Given the description of an element on the screen output the (x, y) to click on. 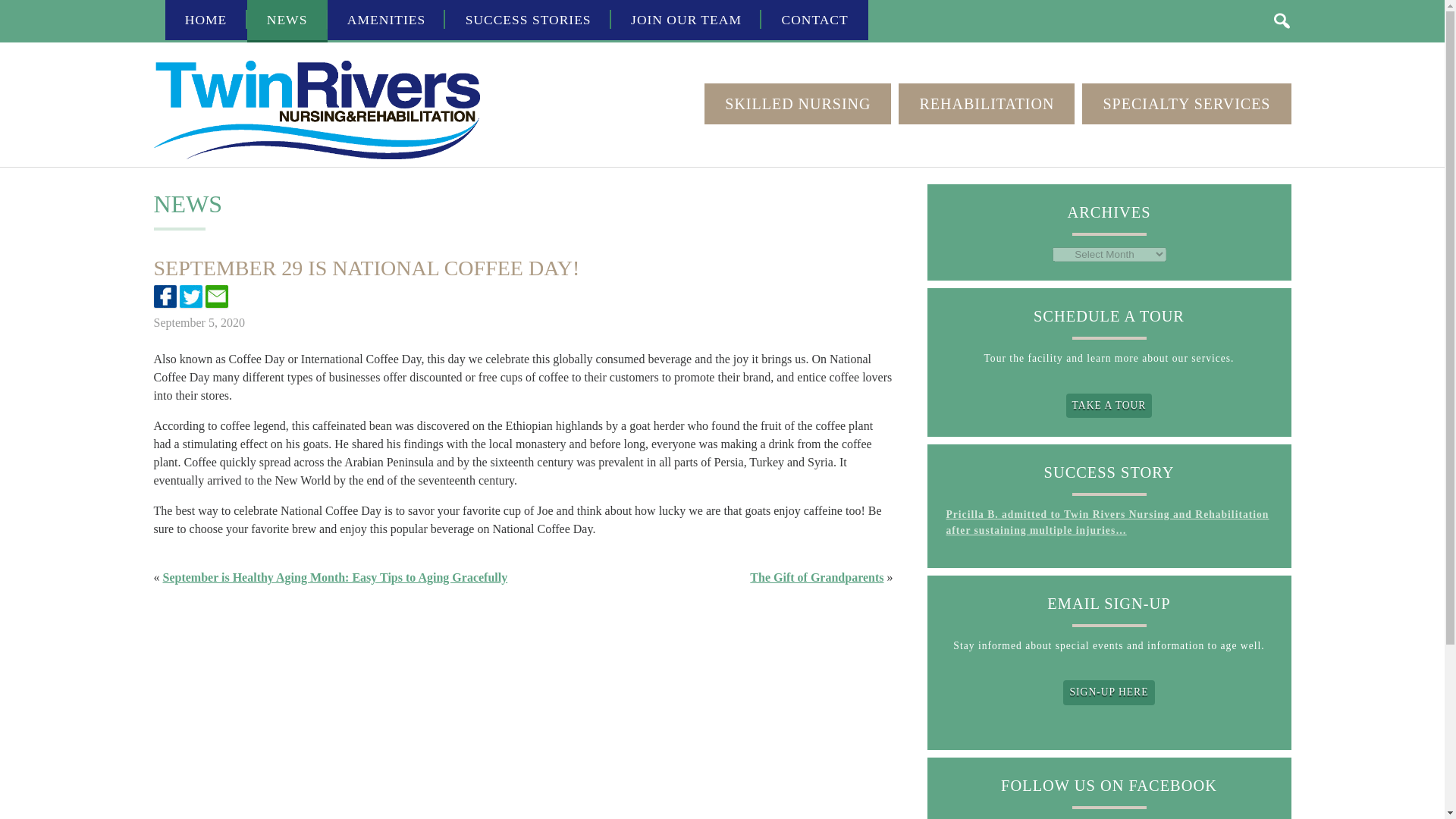
TAKE A TOUR (1109, 405)
SKILLED NURSING (797, 103)
SPECIALTY SERVICES (1185, 103)
The Gift of Grandparents (816, 576)
SUCCESS STORIES (527, 20)
SIGN-UP HERE (1108, 692)
NEWS (287, 21)
REHABILITATION (986, 103)
AMENITIES (386, 20)
HOME (206, 20)
CONTACT (814, 20)
Search (1281, 20)
Search (1281, 20)
JOIN OUR TEAM (686, 20)
